Given the description of an element on the screen output the (x, y) to click on. 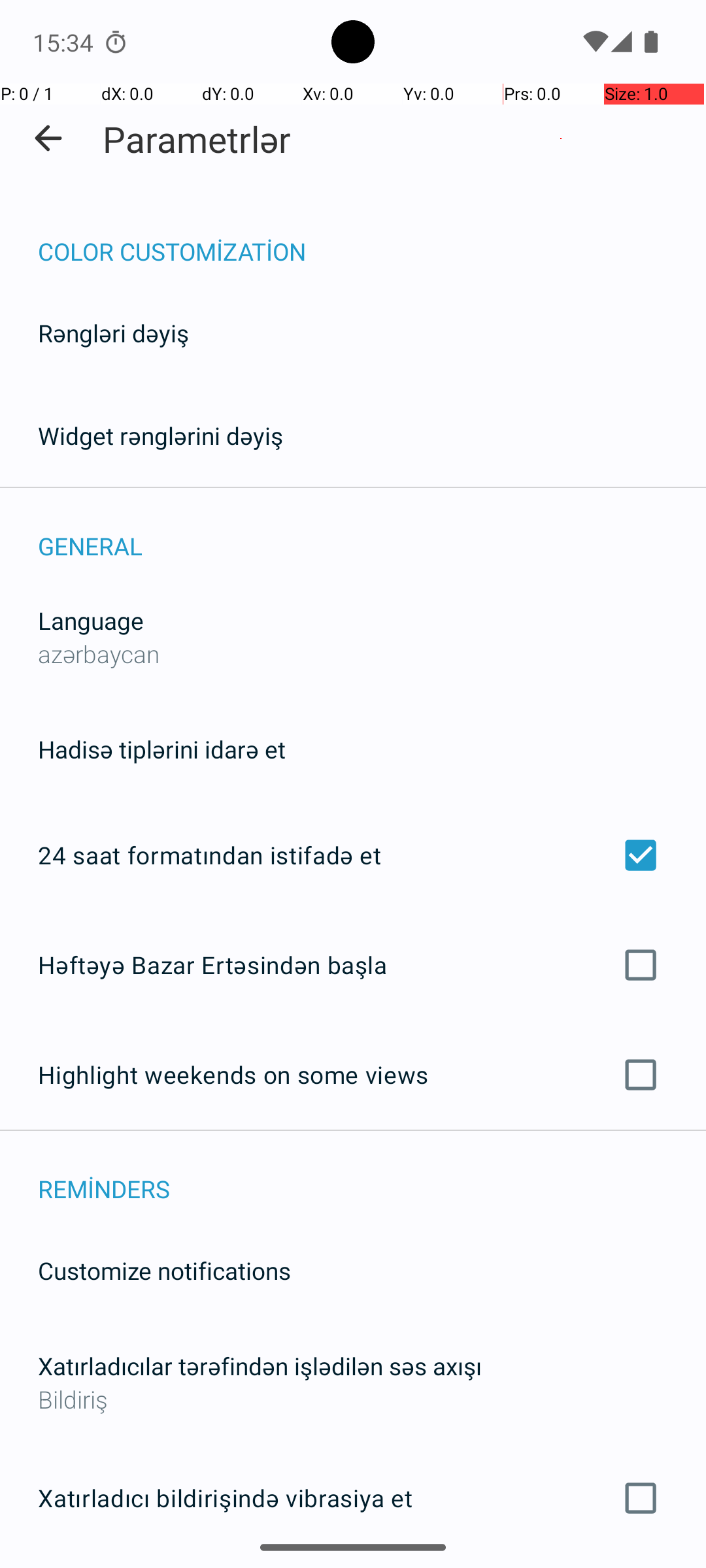
COLOR CUSTOMİZATİON Element type: android.widget.TextView (371, 237)
REMİNDERS Element type: android.widget.TextView (371, 1174)
Rəngləri dəyiş Element type: android.widget.TextView (112, 332)
Widget rənglərini dəyiş Element type: android.widget.TextView (160, 435)
azərbaycan Element type: android.widget.TextView (98, 653)
Hadisə tiplərini idarə et Element type: android.widget.TextView (161, 748)
24 saat formatından istifadə et Element type: android.widget.CheckBox (352, 855)
Həftəyə Bazar Ertəsindən başla Element type: android.widget.CheckBox (352, 964)
Xatırladıcılar tərəfindən işlədilən səs axışı Element type: android.widget.TextView (259, 1365)
Bildiriş Element type: android.widget.TextView (352, 1398)
Xatırladıcı bildirişində vibrasiya et Element type: android.widget.CheckBox (352, 1497)
Buraxılana qədər xatırladıcıları təkrarla Element type: android.widget.CheckBox (352, 1567)
